Given the description of an element on the screen output the (x, y) to click on. 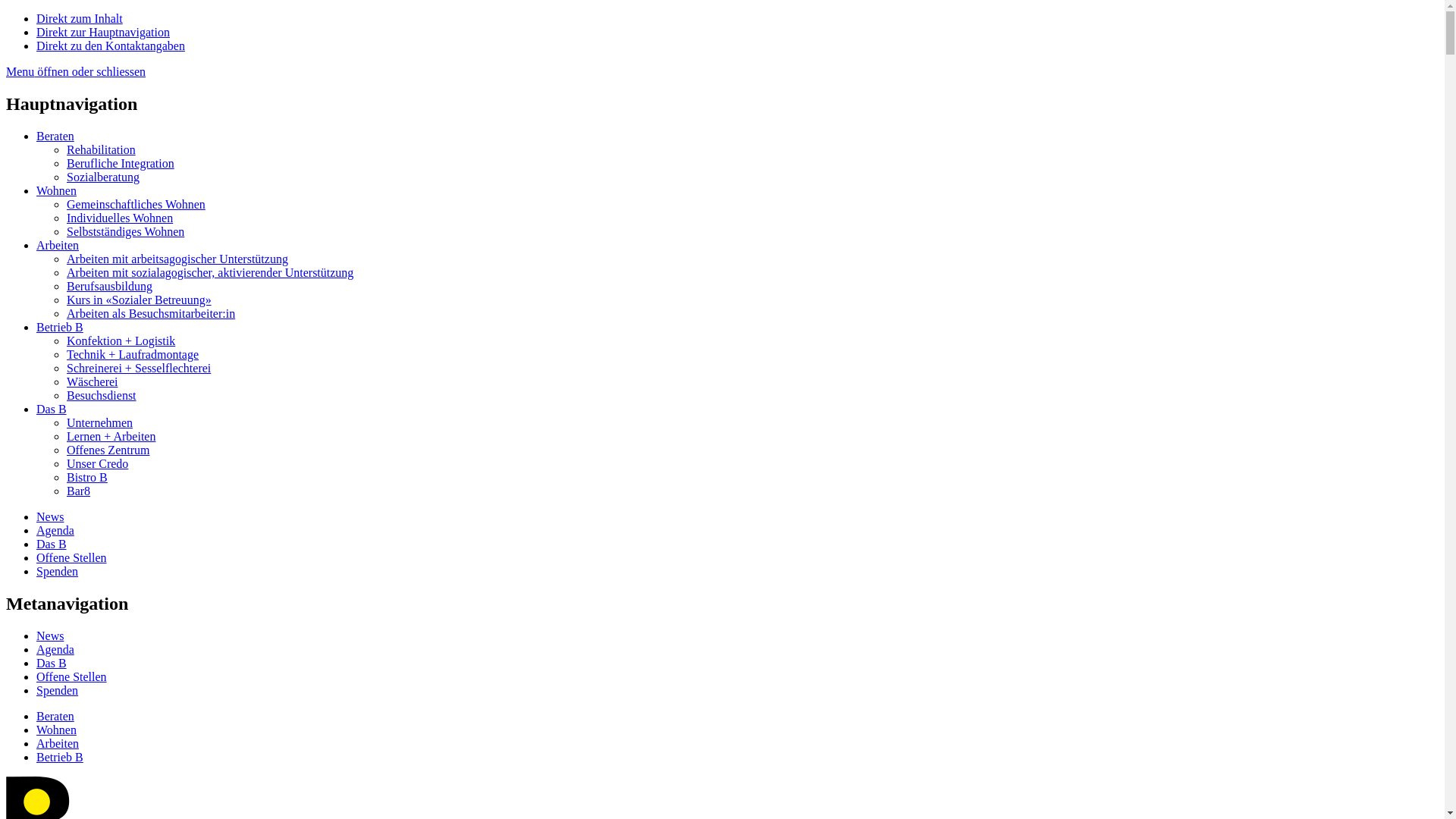
Das B Element type: text (51, 662)
Rehabilitation Element type: text (100, 149)
Das B Element type: text (51, 408)
Besuchsdienst Element type: text (101, 395)
Wohnen Element type: text (56, 190)
Beraten Element type: text (55, 715)
Bistro B Element type: text (86, 476)
Schreinerei + Sesselflechterei Element type: text (138, 367)
Betrieb B Element type: text (59, 756)
Arbeiten Element type: text (57, 743)
Individuelles Wohnen Element type: text (119, 217)
Bar8 Element type: text (78, 490)
Unternehmen Element type: text (99, 422)
Offene Stellen Element type: text (71, 676)
Das B Element type: text (51, 543)
Sozialberatung Element type: text (102, 176)
Offenes Zentrum Element type: text (107, 449)
Berufliche Integration Element type: text (120, 162)
Direkt zur Hauptnavigation Element type: text (102, 31)
Lernen + Arbeiten Element type: text (110, 435)
Spenden Element type: text (57, 690)
Spenden Element type: text (57, 570)
Unser Credo Element type: text (97, 463)
Agenda Element type: text (55, 530)
News Element type: text (49, 516)
Konfektion + Logistik Element type: text (120, 340)
Arbeiten Element type: text (57, 244)
Wohnen Element type: text (56, 729)
Gemeinschaftliches Wohnen Element type: text (135, 203)
Beraten Element type: text (55, 135)
Arbeiten als Besuchsmitarbeiter:in Element type: text (150, 313)
Offene Stellen Element type: text (71, 557)
News Element type: text (49, 635)
Berufsausbildung Element type: text (109, 285)
Betrieb B Element type: text (59, 326)
Technik + Laufradmontage Element type: text (132, 354)
Agenda Element type: text (55, 649)
Direkt zu den Kontaktangaben Element type: text (110, 45)
Direkt zum Inhalt Element type: text (79, 18)
